Given the description of an element on the screen output the (x, y) to click on. 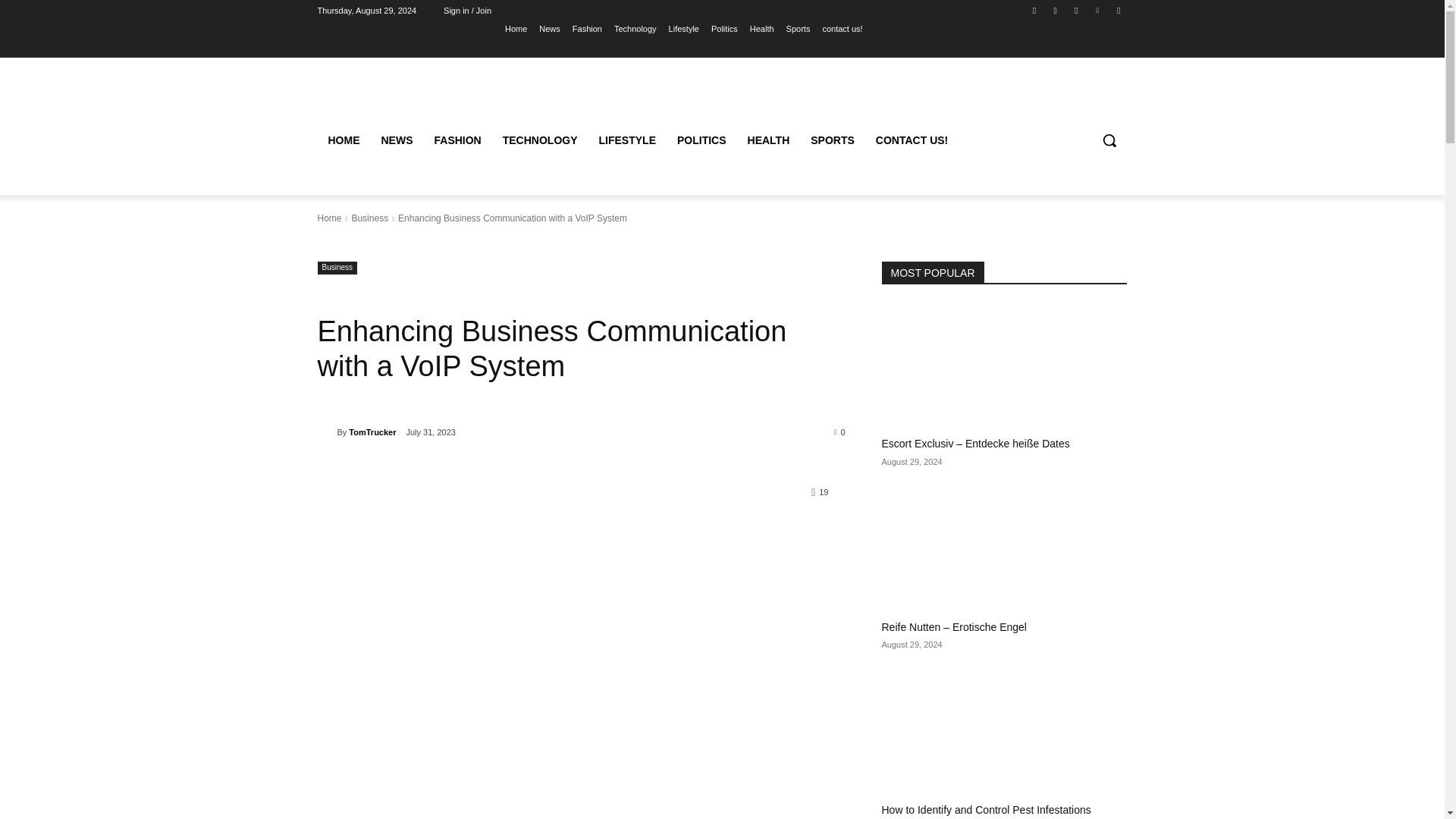
View all posts in Business (369, 217)
TomTrucker (326, 432)
Instagram (1055, 9)
CONTACT US! (911, 140)
News (549, 28)
Sports (798, 28)
Health (761, 28)
FASHION (457, 140)
Fashion (587, 28)
contact us! (841, 28)
